Given the description of an element on the screen output the (x, y) to click on. 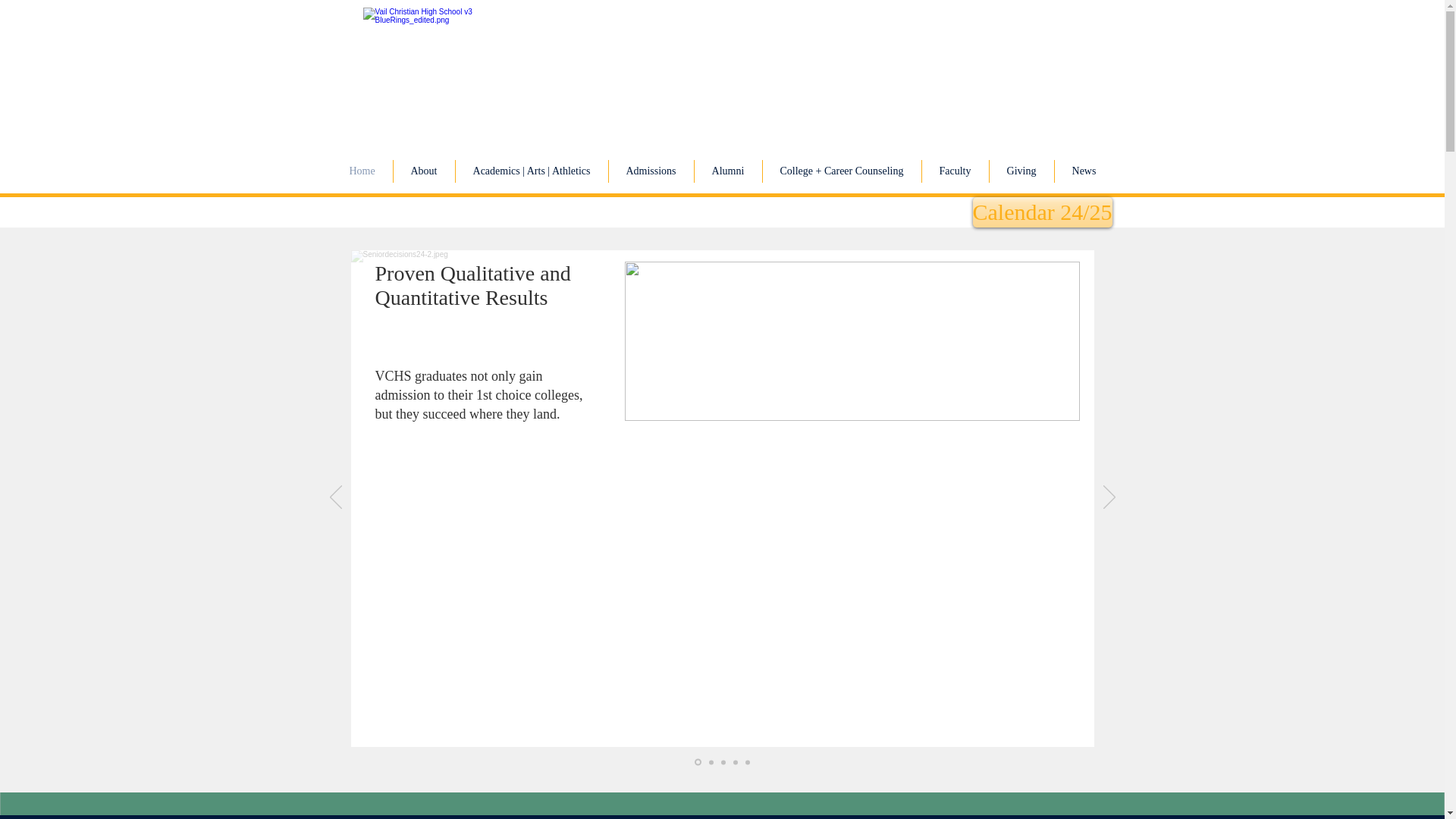
Alumni (727, 170)
News (1083, 170)
Home (362, 170)
About (423, 170)
Faculty (954, 170)
Admissions (650, 170)
23 acceptances.png (852, 340)
Giving (1020, 170)
